Given the description of an element on the screen output the (x, y) to click on. 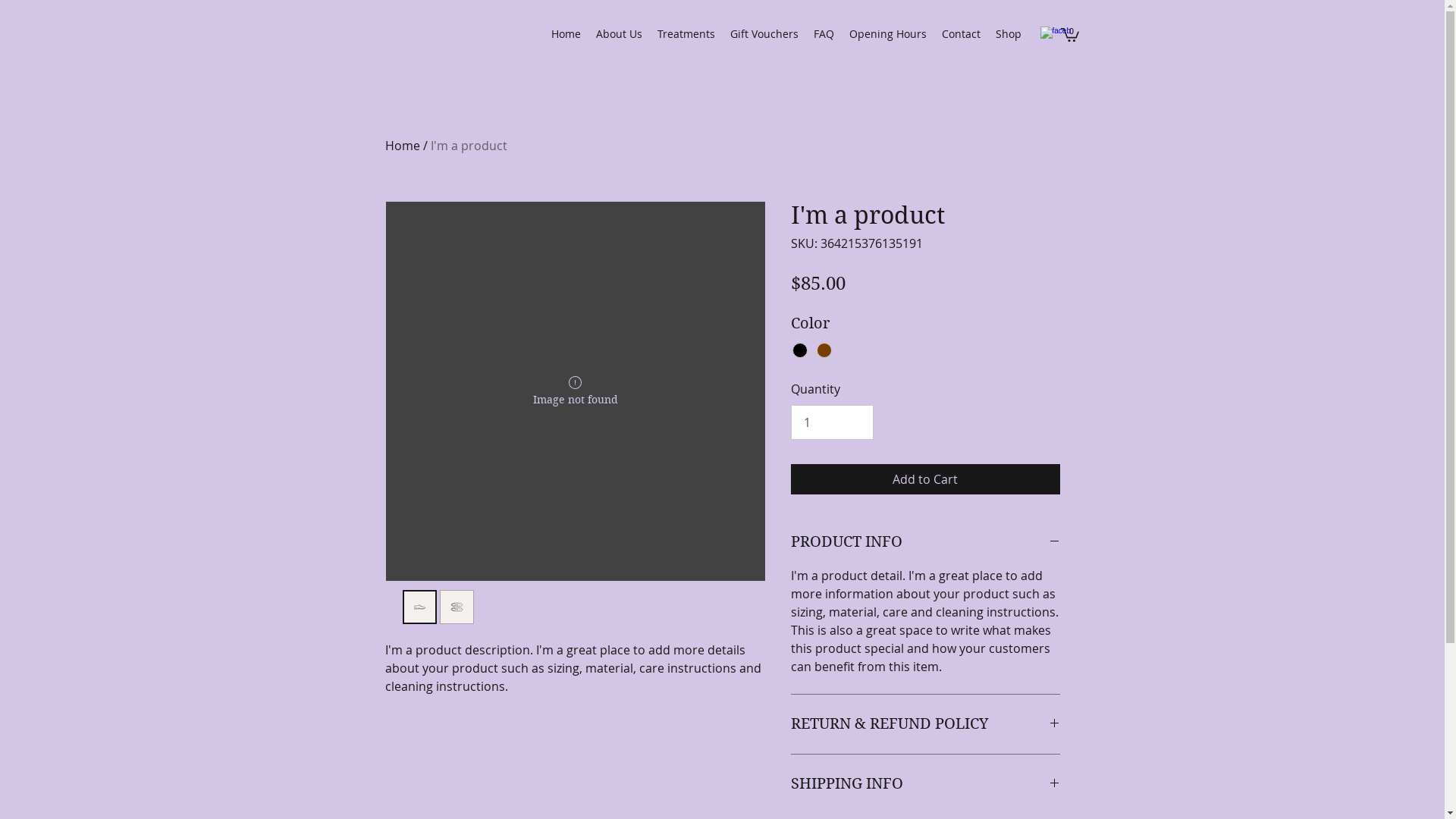
Gift Vouchers Element type: text (763, 33)
Home Element type: text (564, 33)
I'm a product Element type: text (468, 145)
Home Element type: text (402, 145)
PRODUCT INFO Element type: text (924, 541)
Contact Element type: text (961, 33)
Opening Hours Element type: text (887, 33)
0 Element type: text (1069, 33)
RETURN & REFUND POLICY Element type: text (924, 723)
Add to Cart Element type: text (924, 479)
About Us Element type: text (618, 33)
FAQ Element type: text (822, 33)
SHIPPING INFO Element type: text (924, 783)
Shop Element type: text (1007, 33)
Treatments Element type: text (685, 33)
